Given the description of an element on the screen output the (x, y) to click on. 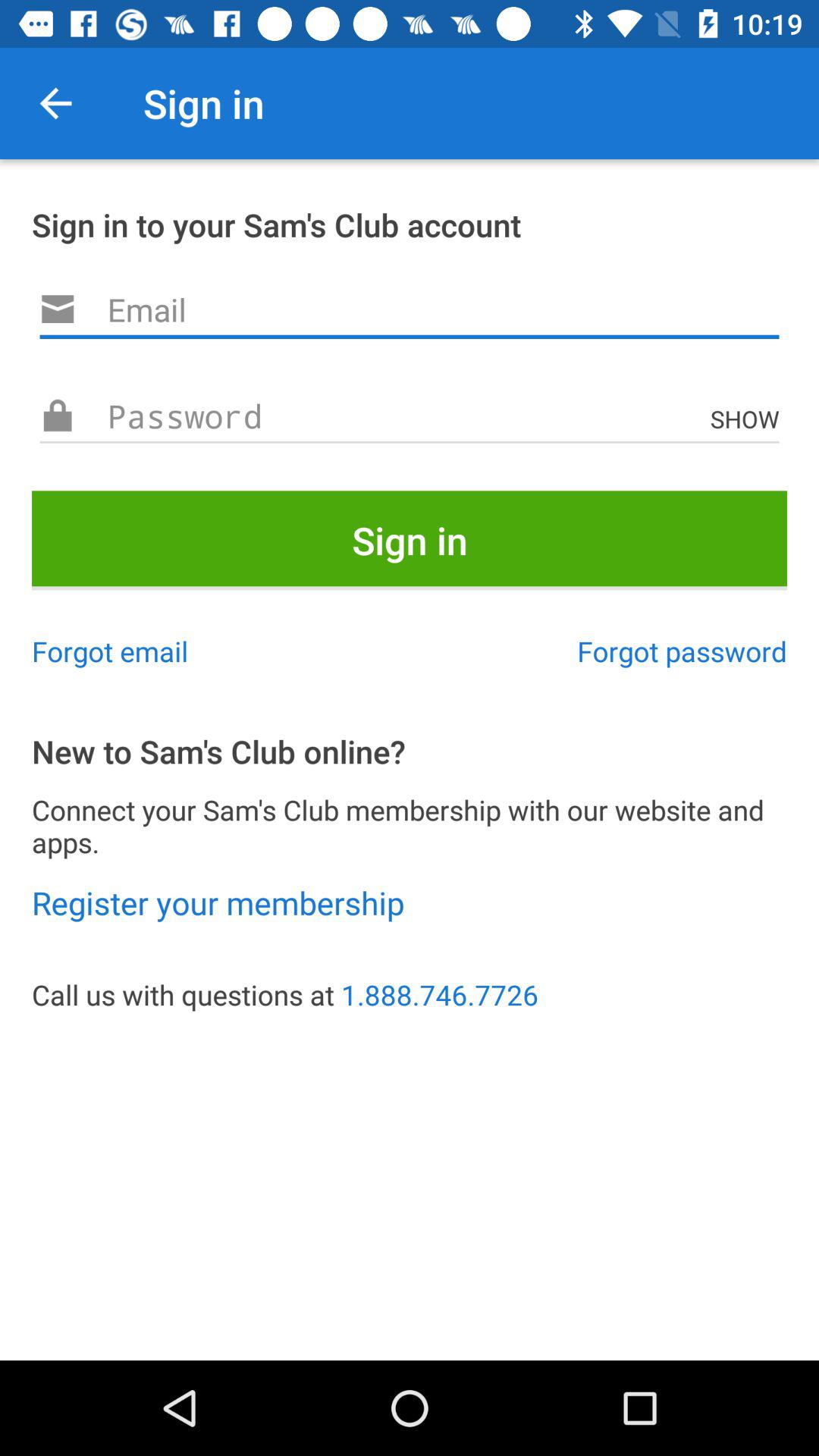
open item next to forgot password item (109, 650)
